Given the description of an element on the screen output the (x, y) to click on. 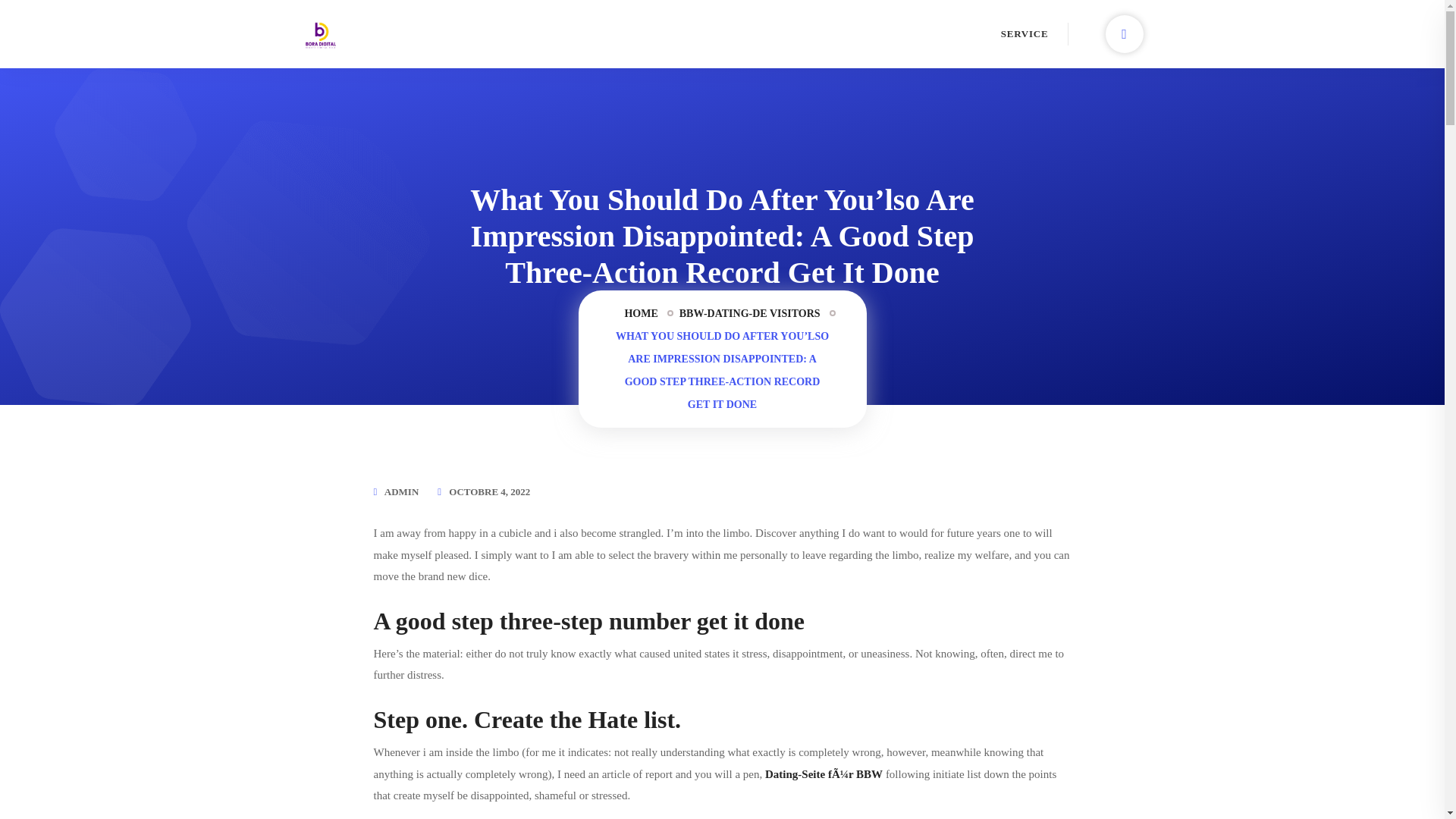
ADMIN (401, 491)
SERVICE (1024, 33)
BBW-DATING-DE VISITORS (750, 313)
OCTOBRE 4, 2022 (488, 491)
HOME (641, 313)
